Given the description of an element on the screen output the (x, y) to click on. 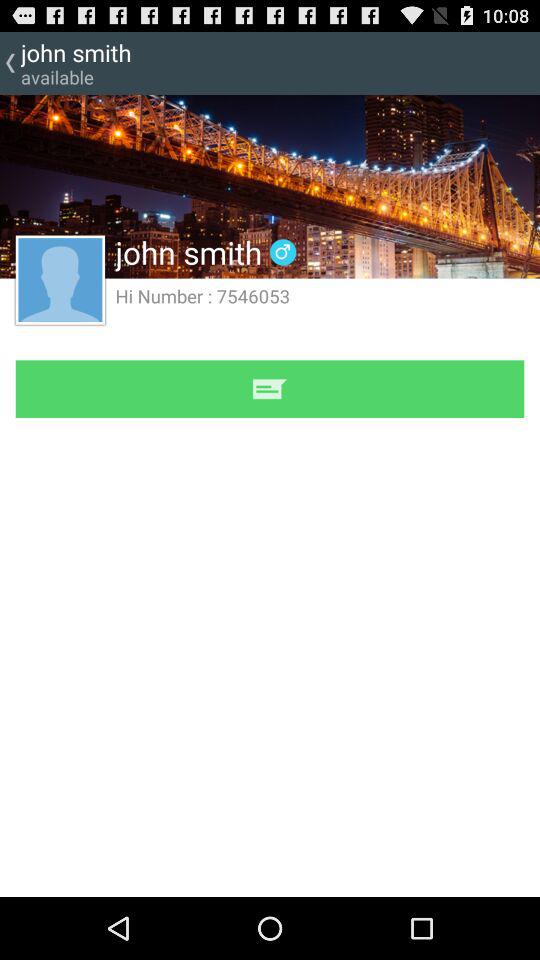
swipe to hi number : 7546053 icon (202, 295)
